Given the description of an element on the screen output the (x, y) to click on. 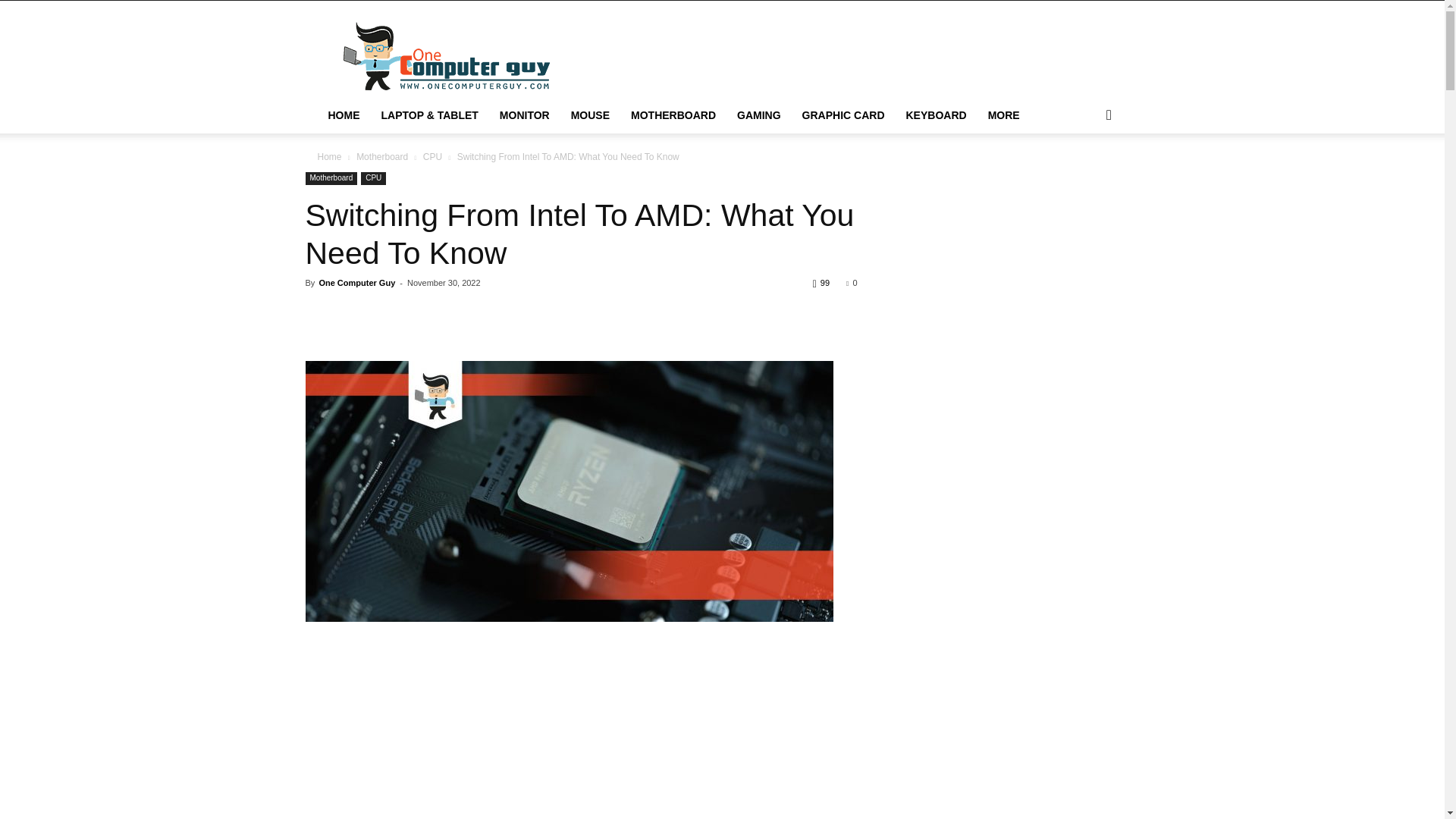
MOTHERBOARD (673, 115)
MONITOR (524, 115)
GRAPHIC CARD (843, 115)
View all posts in CPU (432, 156)
View all posts in Motherboard (381, 156)
MORE (1003, 115)
HOME (343, 115)
KEYBOARD (935, 115)
MOUSE (590, 115)
GAMING (759, 115)
